Given the description of an element on the screen output the (x, y) to click on. 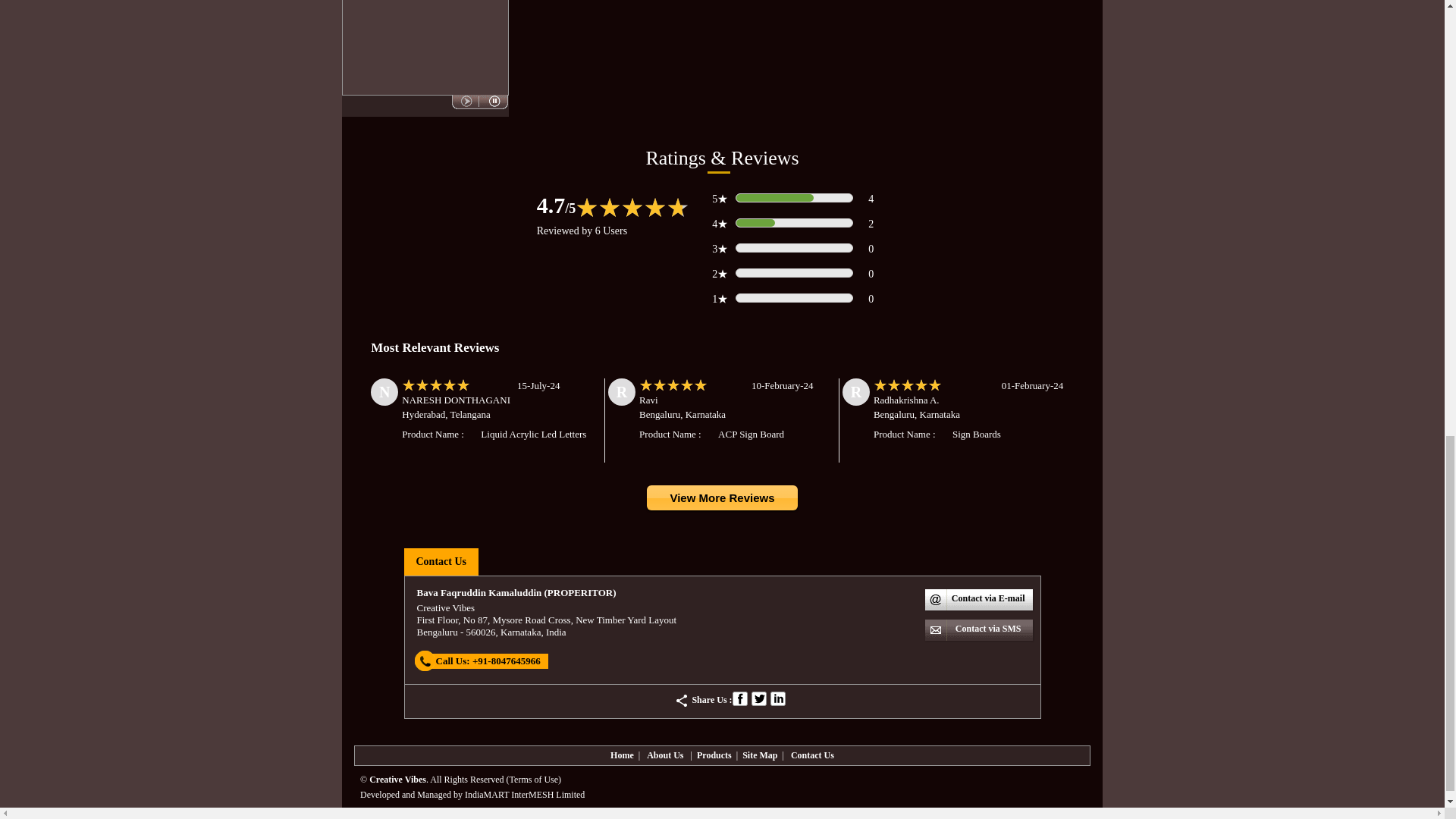
4.7 out of 5 Votes (556, 204)
